Given the description of an element on the screen output the (x, y) to click on. 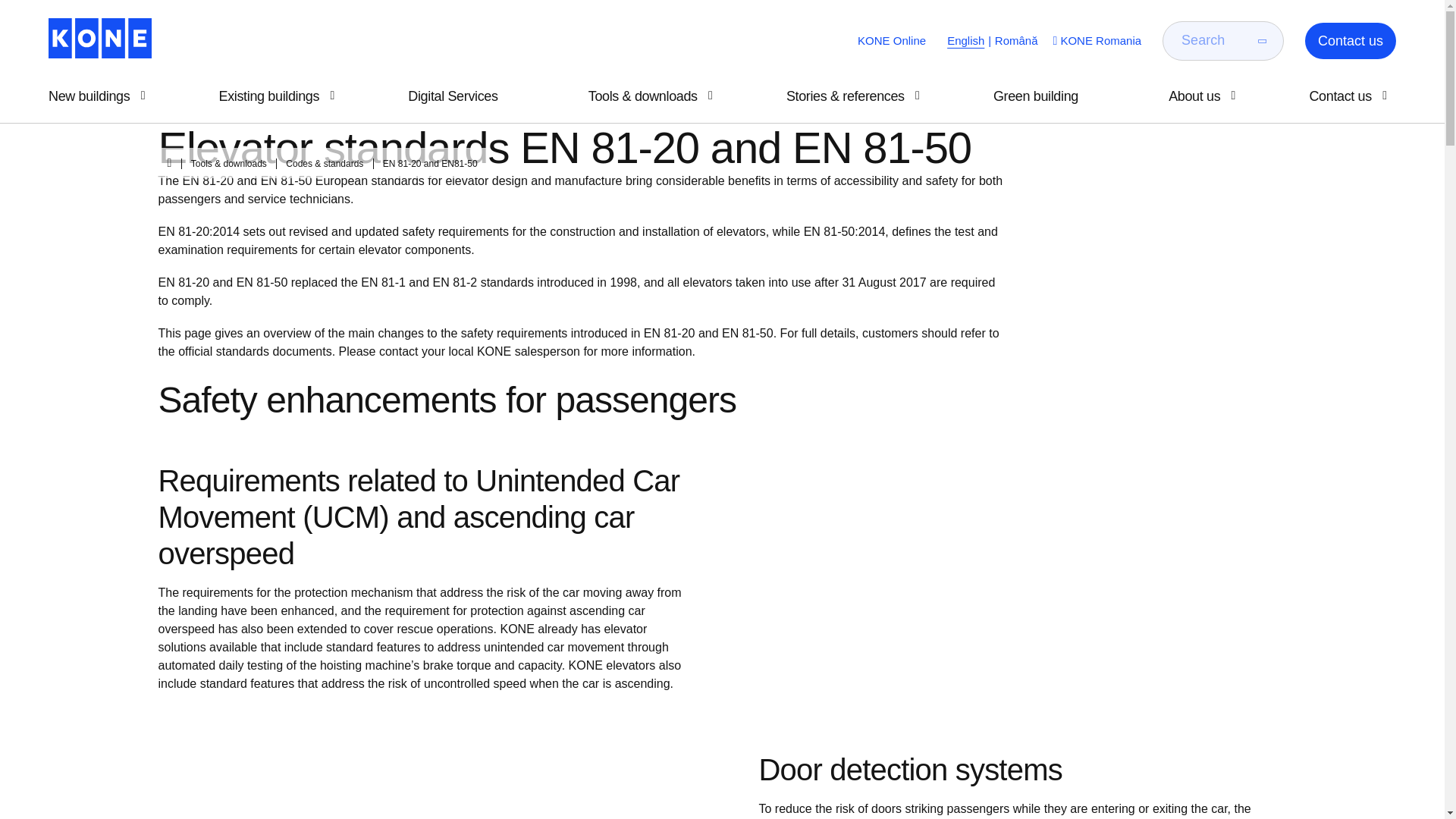
KONE Online (891, 40)
KONE Romania (1095, 40)
EN 81-20 and EN81-50 (421, 163)
KONE logo (99, 38)
New buildings (101, 95)
Contact us (1350, 40)
Existing buildings (281, 95)
English (965, 40)
